Given the description of an element on the screen output the (x, y) to click on. 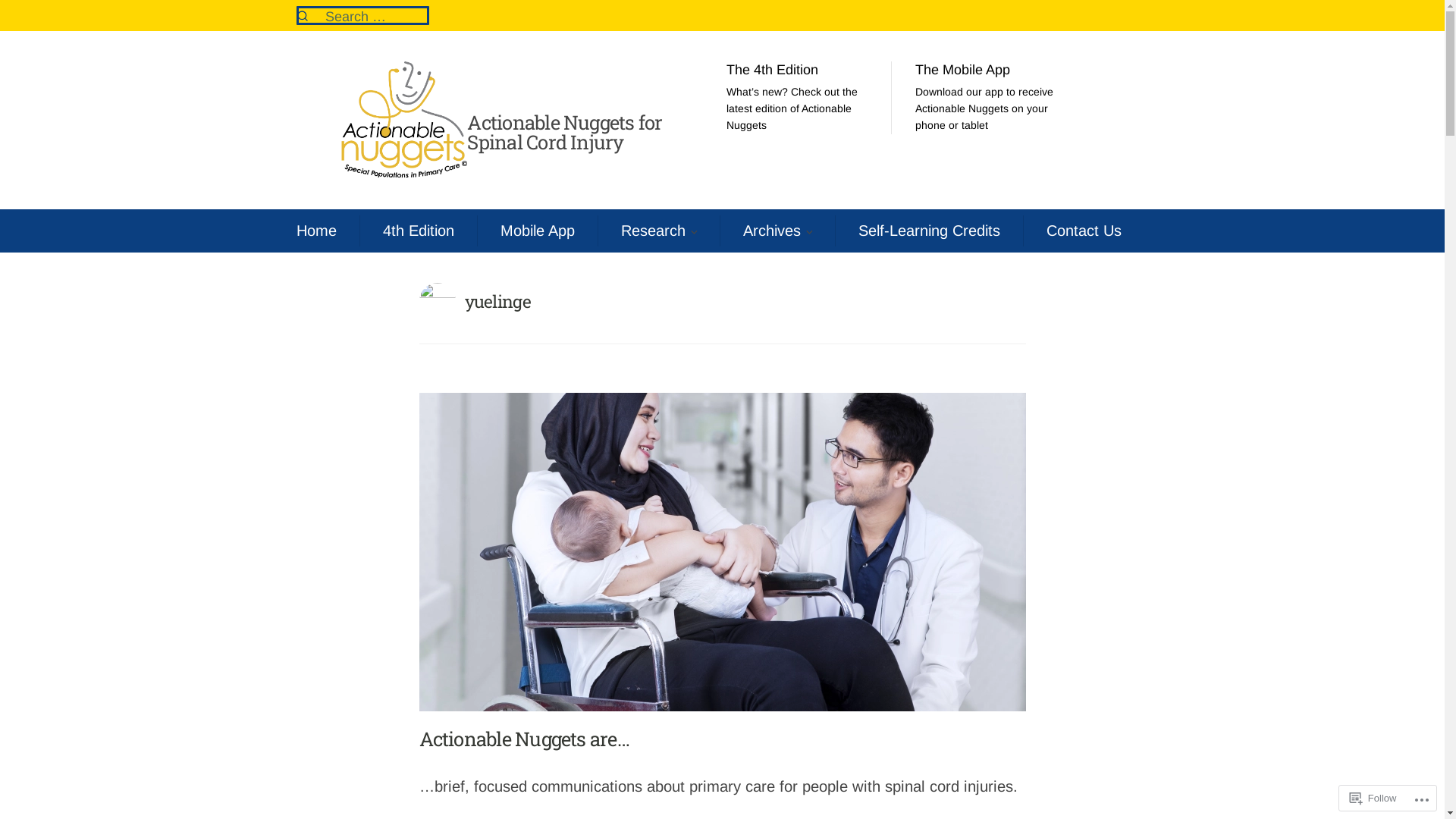
Contact Us Element type: text (1083, 230)
Self-Learning Credits Element type: text (929, 230)
Follow Element type: text (1372, 797)
Mobile App Element type: text (537, 230)
Home Element type: text (315, 230)
Archives Element type: text (771, 230)
4th Edition Element type: text (417, 230)
Actionable Nuggets for Spinal Cord Injury Element type: text (564, 131)
Research Element type: text (652, 230)
